Given the description of an element on the screen output the (x, y) to click on. 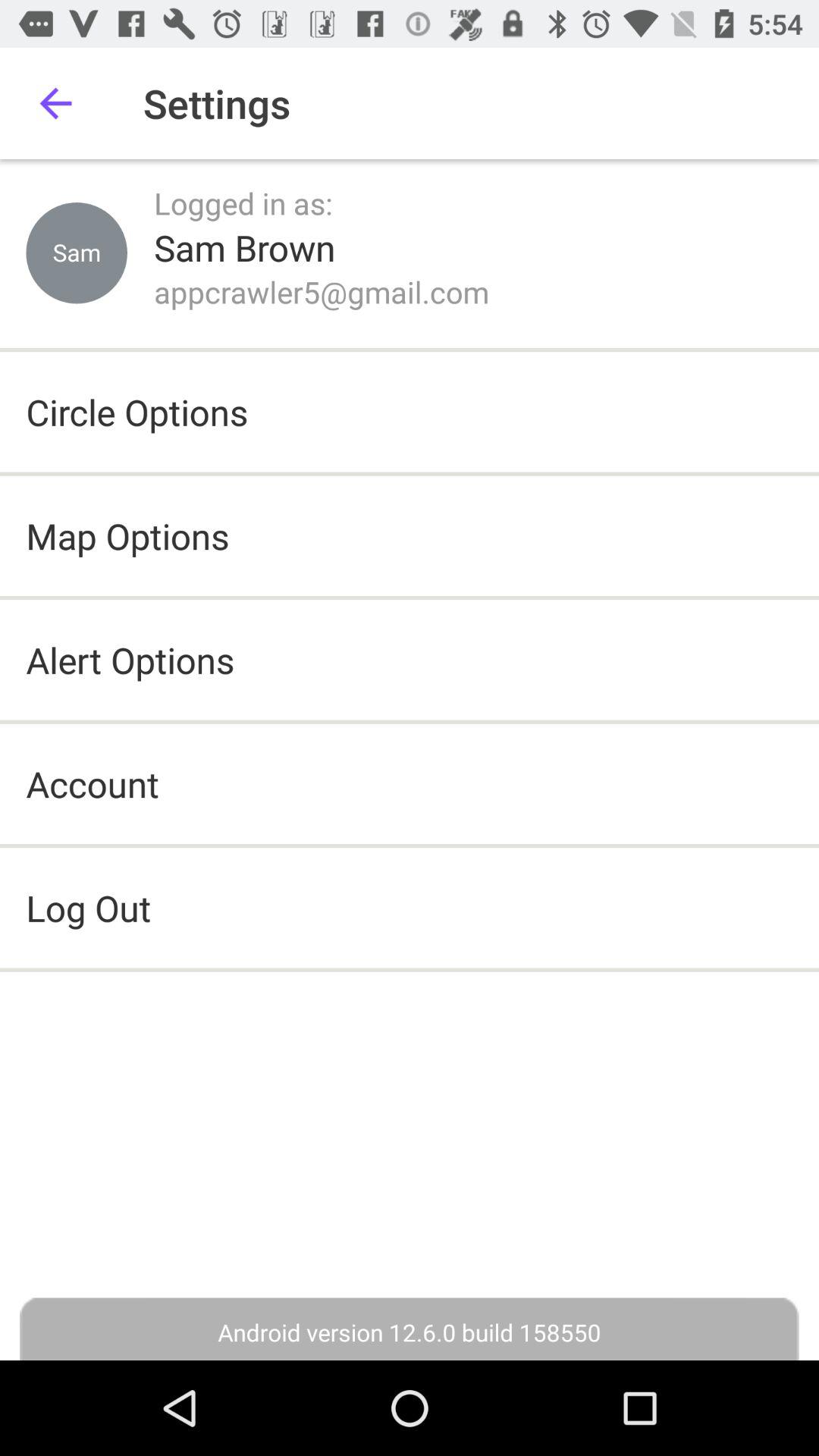
tap icon above the android version 12 icon (409, 908)
